Given the description of an element on the screen output the (x, y) to click on. 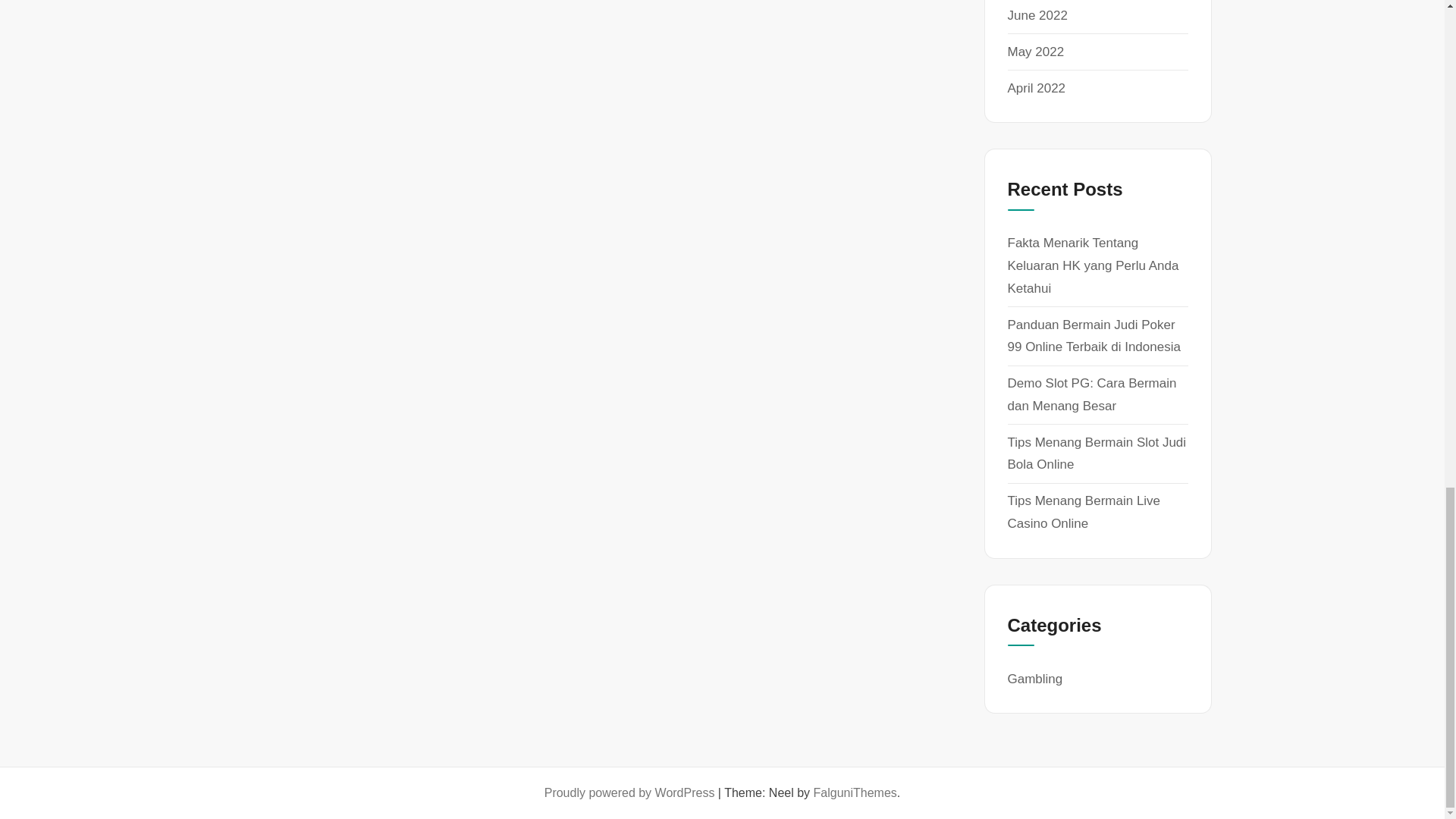
June 2022 (1037, 15)
